Given the description of an element on the screen output the (x, y) to click on. 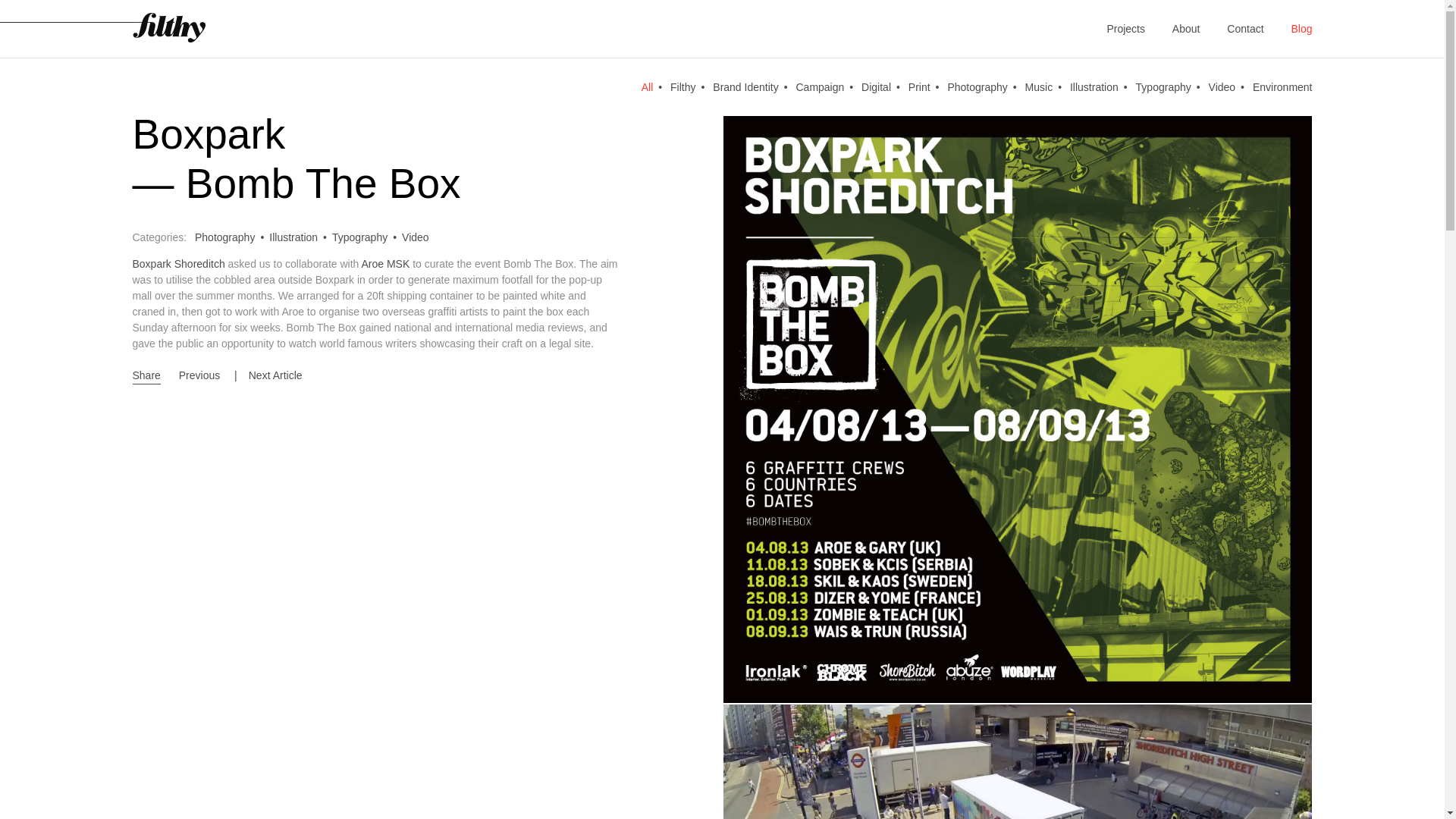
About (1173, 28)
Typography (366, 237)
Contact (1232, 28)
Video (415, 237)
Photography (232, 237)
Illustration (1101, 101)
Photography (984, 101)
Typography (1170, 101)
Projects (1112, 28)
Boxpark Shoreditch (178, 263)
Share (146, 376)
Boxpark (208, 134)
Previous (199, 376)
Campaign (826, 101)
Aroe MSK (385, 263)
